Given the description of an element on the screen output the (x, y) to click on. 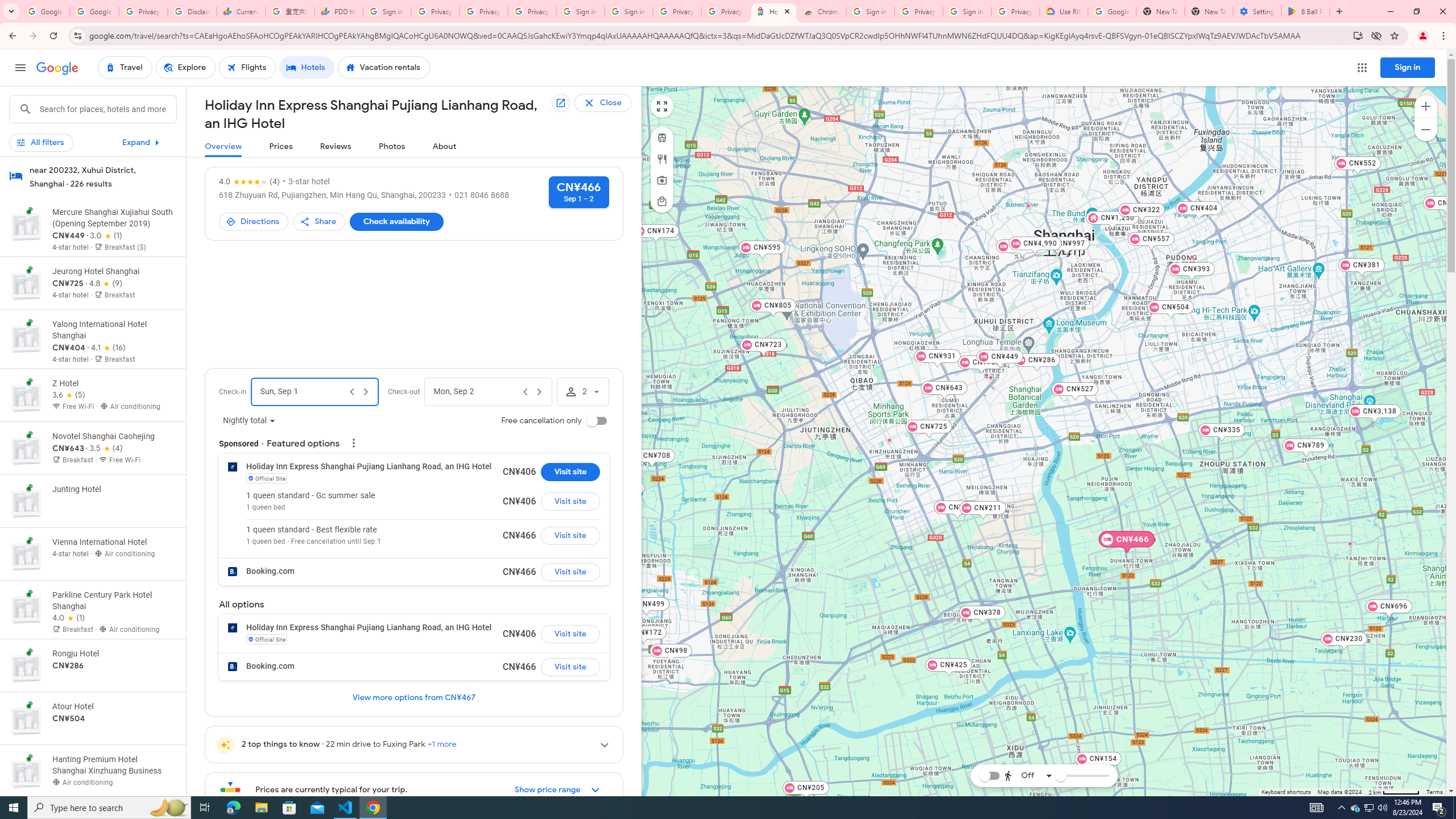
Price displayedNightly total (248, 421)
Zoom out map (1425, 128)
View prices for Z Hotel (113, 434)
View prices for Novotel Shanghai Caohejing (113, 488)
